Given the description of an element on the screen output the (x, y) to click on. 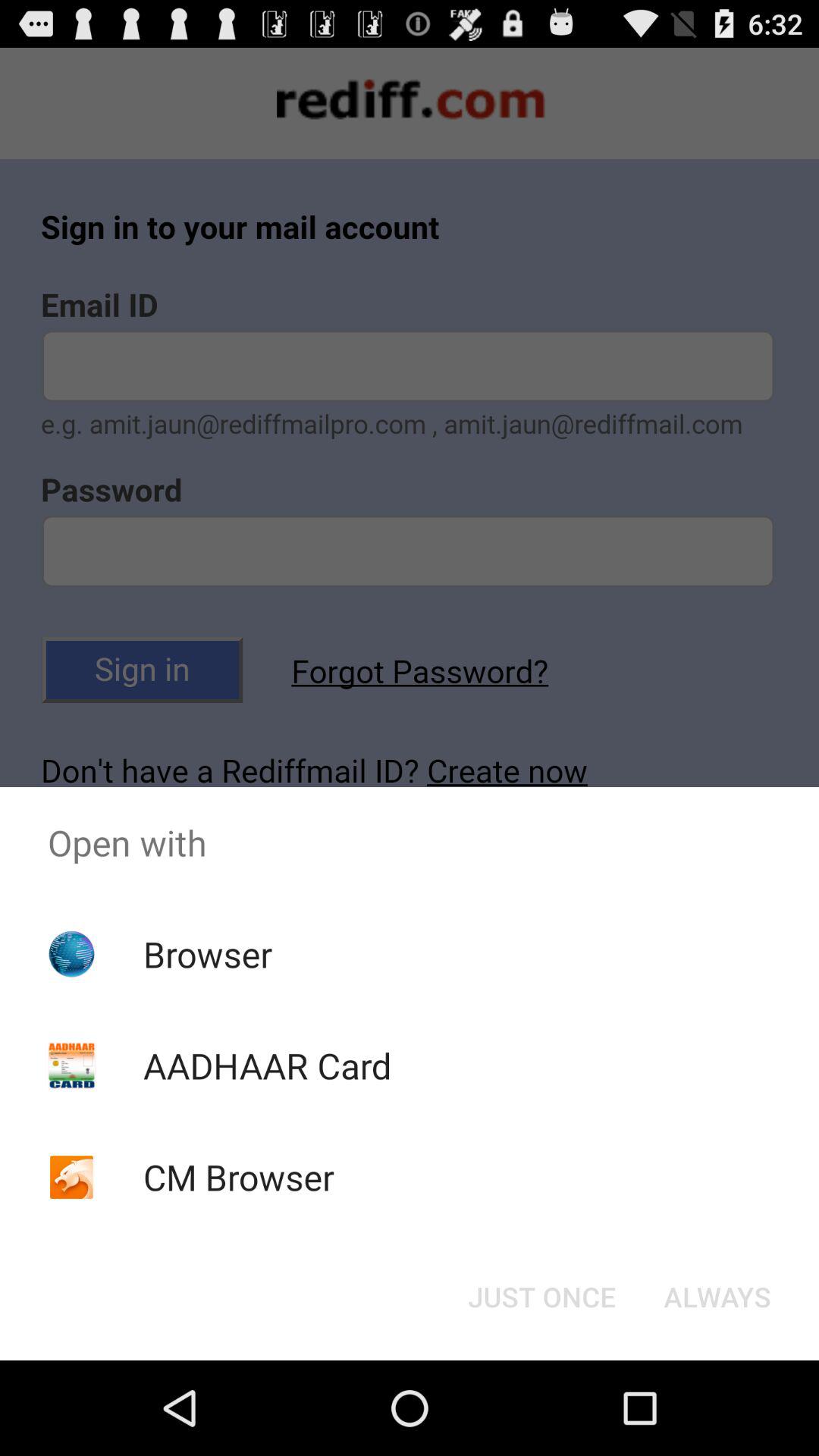
open button to the left of always button (541, 1296)
